Given the description of an element on the screen output the (x, y) to click on. 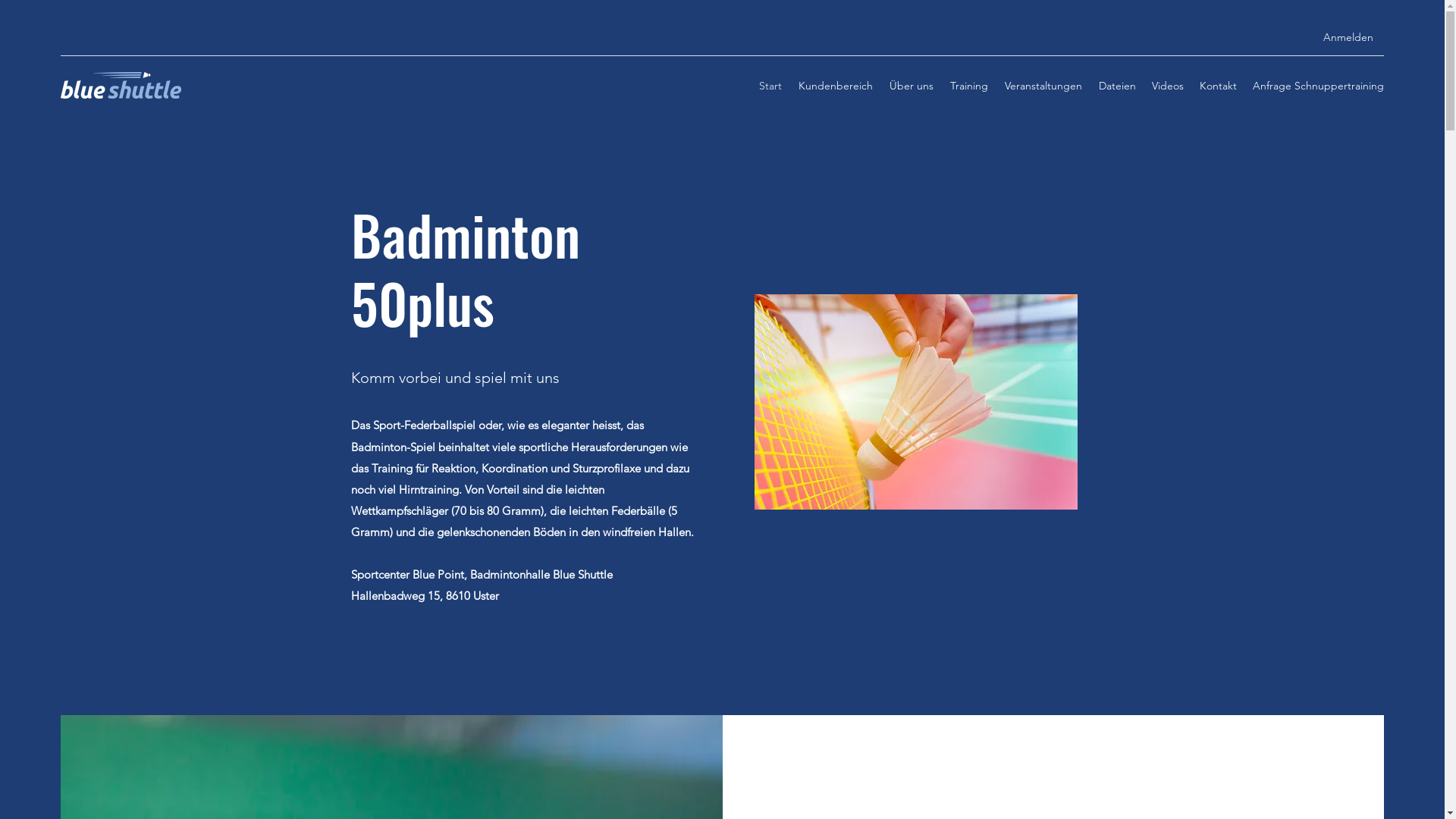
Start Element type: text (769, 85)
Kundenbereich Element type: text (834, 85)
Veranstaltungen Element type: text (1042, 85)
Videos Element type: text (1167, 85)
Kontakt Element type: text (1217, 85)
Anfrage Schnuppertraining Element type: text (1317, 85)
Training Element type: text (968, 85)
Dateien Element type: text (1116, 85)
Anmelden Element type: text (1347, 37)
